Given the description of an element on the screen output the (x, y) to click on. 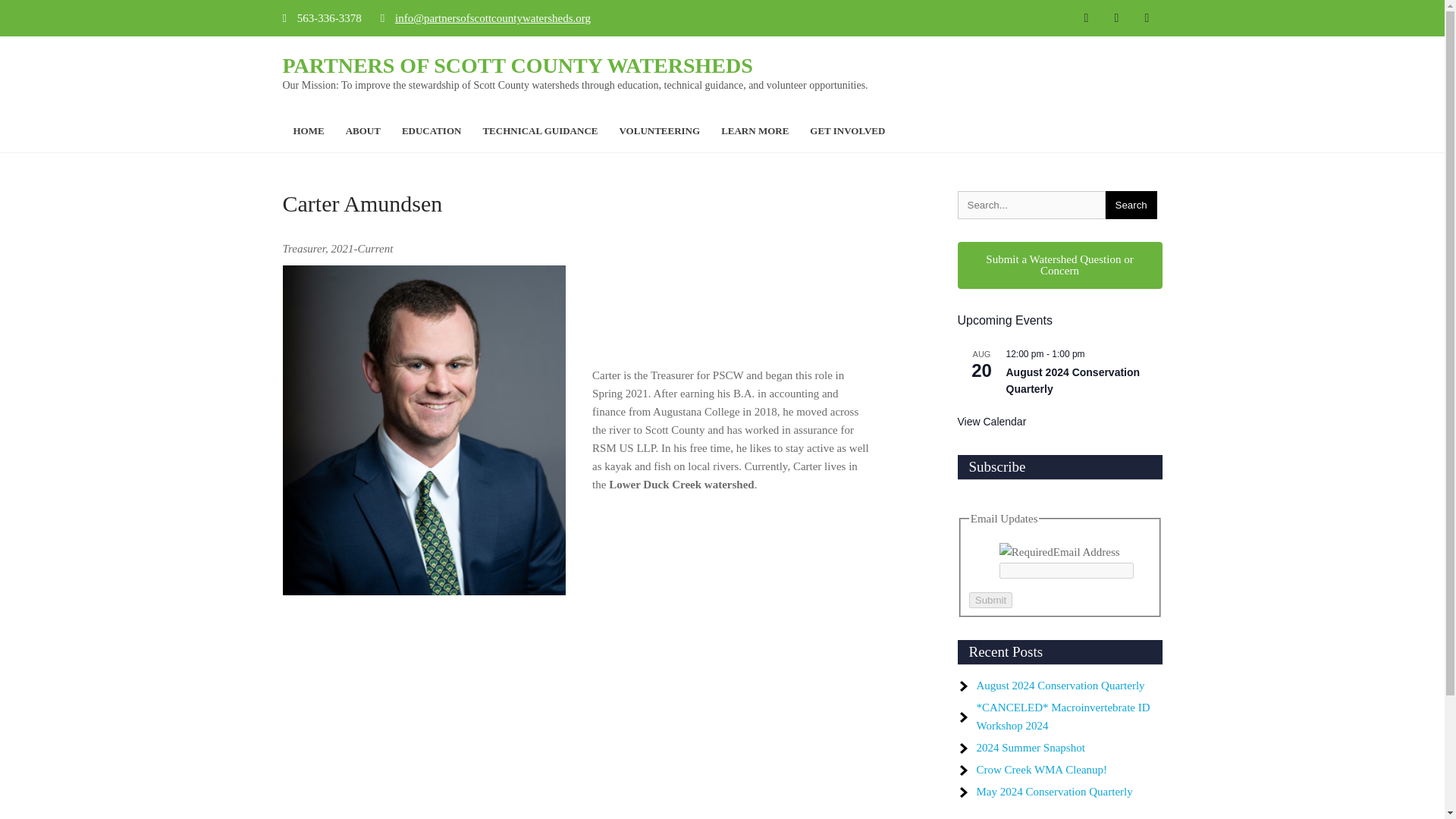
Search (1131, 204)
Submit (990, 600)
Linkedin (1146, 18)
LEARN MORE (754, 130)
Search (1131, 204)
EDUCATION (431, 130)
PARTNERS OF SCOTT COUNTY WATERSHEDS (517, 65)
VOLUNTEERING (659, 130)
August 2024 Conservation Quarterly (1073, 381)
ABOUT (362, 130)
YouTube (1115, 18)
View more events. (991, 421)
TECHNICAL GUIDANCE (539, 130)
Facebook (1085, 18)
HOME (308, 130)
